Given the description of an element on the screen output the (x, y) to click on. 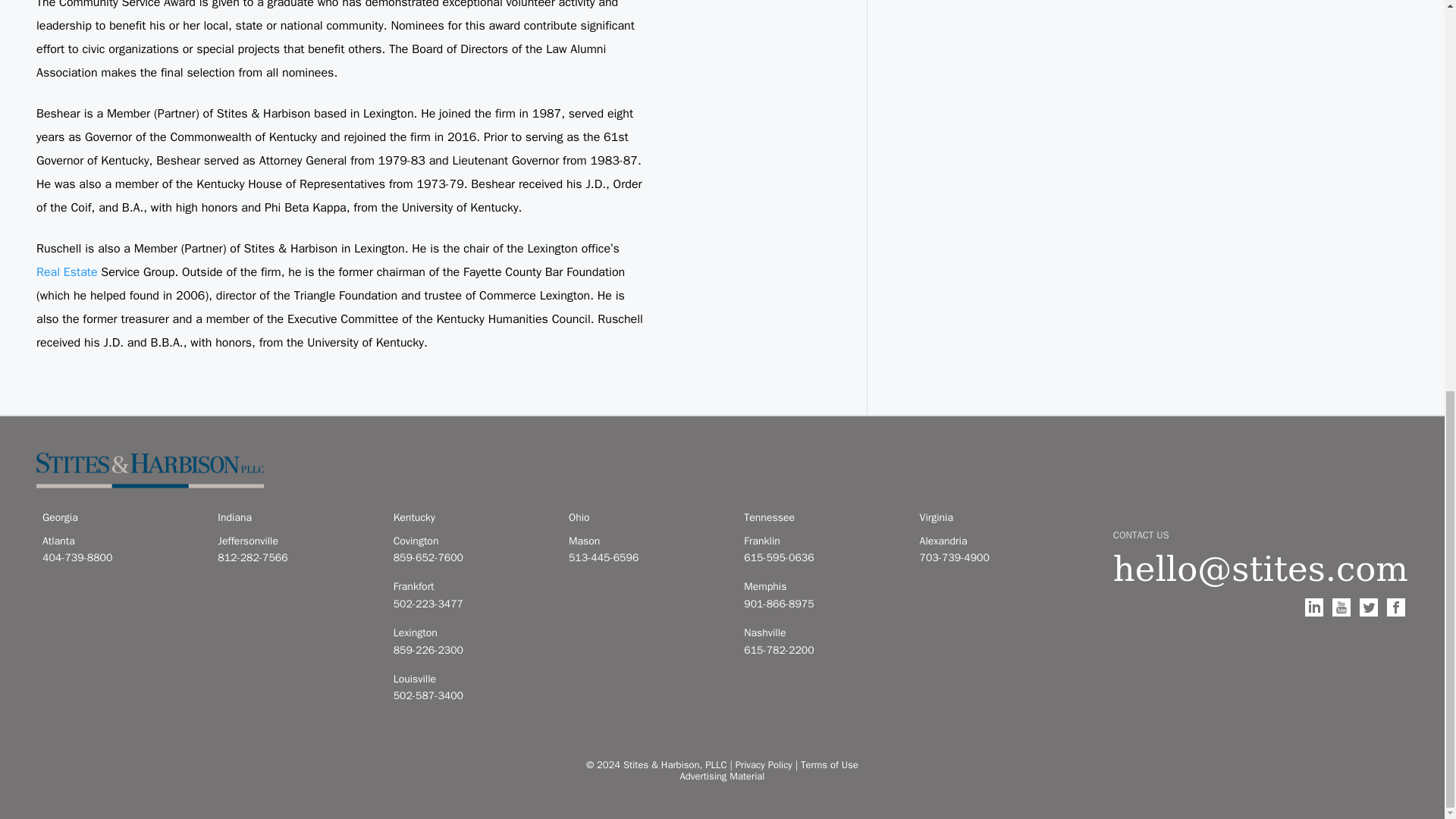
502-587-3400 (471, 695)
901-866-8975 (822, 604)
859-652-7600 (471, 557)
404-739-8800 (120, 557)
513-445-6596 (647, 557)
812-282-7566 (295, 557)
502-223-3477 (471, 604)
Jeffersonville (295, 541)
Louisville (471, 678)
Lexington (471, 632)
Frankfort (471, 586)
Memphis (822, 586)
Real Estate (66, 272)
Real Estate (66, 272)
Mason (647, 541)
